Given the description of an element on the screen output the (x, y) to click on. 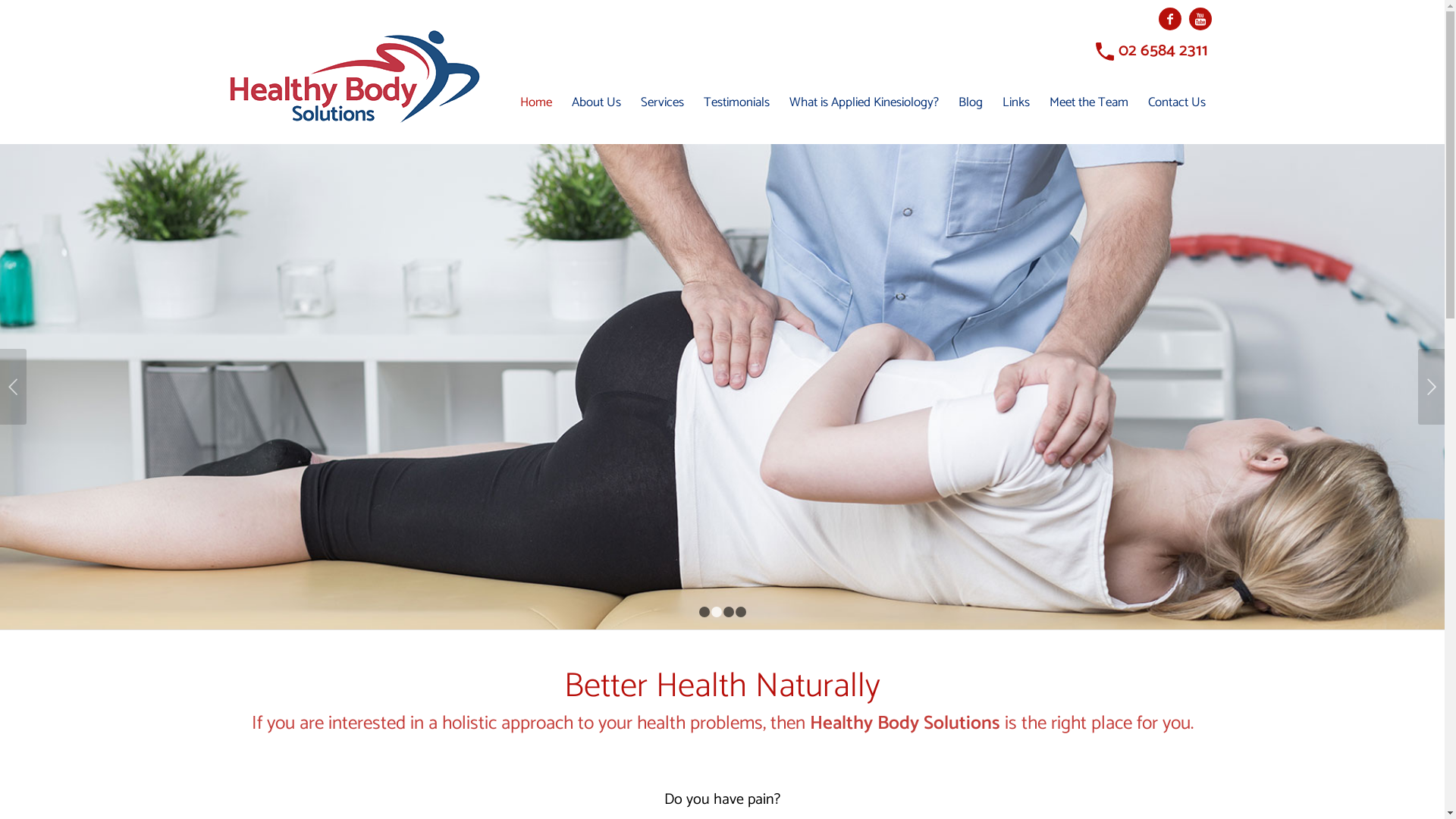
02 6584 2311 Element type: text (1162, 50)
Testimonials Element type: text (735, 102)
Youtube Element type: hover (1200, 18)
Home Element type: text (535, 102)
Services Element type: text (661, 102)
Next Element type: text (1431, 386)
home-slide-1 Element type: hover (722, 386)
About Us Element type: text (595, 102)
Facebook Element type: hover (1169, 18)
Previous Element type: text (13, 386)
Meet the Team Element type: text (1087, 102)
4 Element type: text (740, 611)
3 Element type: text (728, 611)
What is Applied Kinesiology? Element type: text (863, 102)
Blog Element type: text (969, 102)
Links Element type: text (1014, 102)
Contact Us Element type: text (1175, 102)
1 Element type: text (704, 611)
2 Element type: text (716, 611)
